Given the description of an element on the screen output the (x, y) to click on. 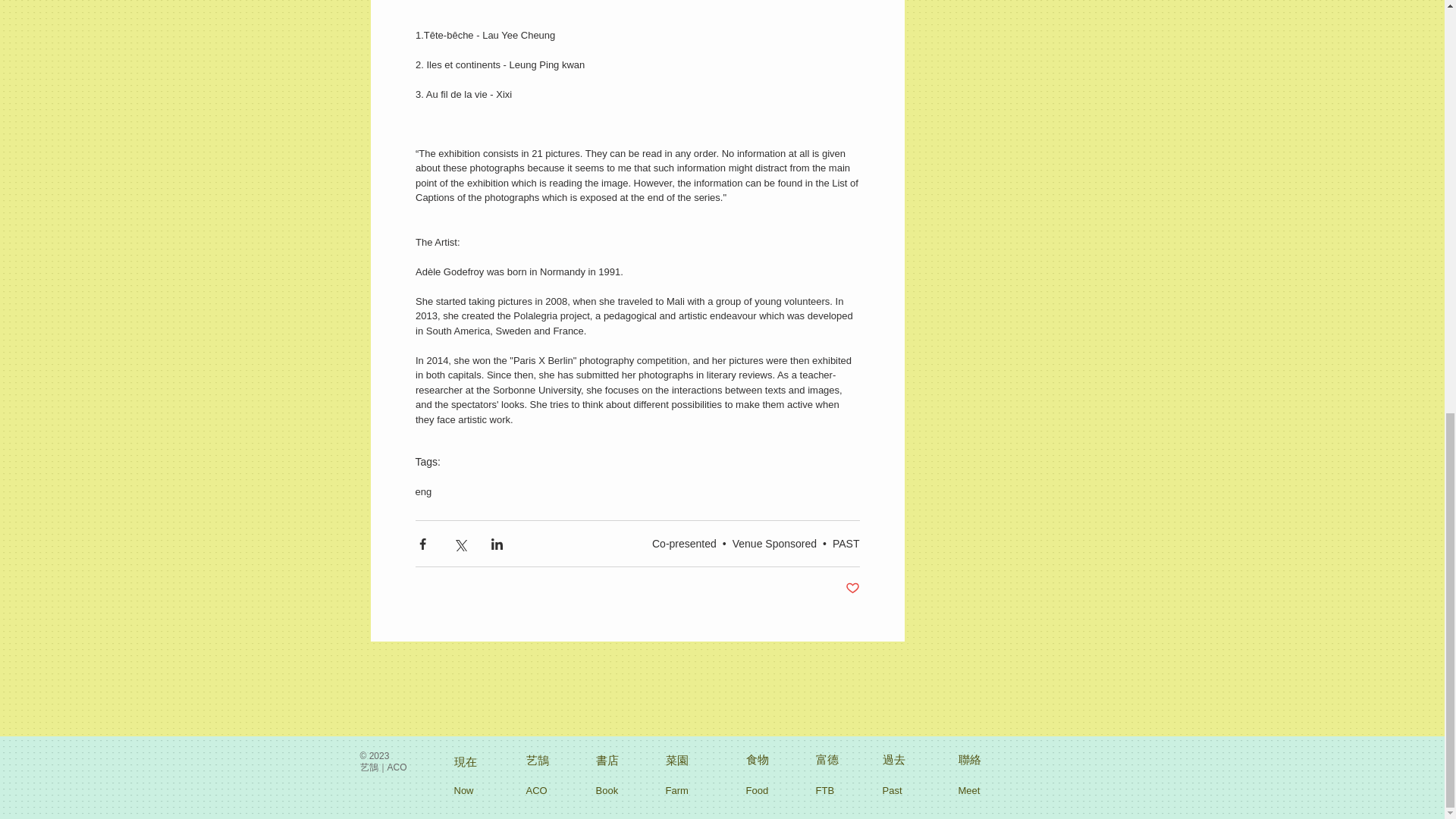
Past (897, 790)
ACO (538, 790)
Farm (680, 790)
PAST (846, 543)
Post not marked as liked (851, 588)
Book (610, 790)
Now (465, 790)
Venue Sponsored (774, 543)
Co-presented (684, 543)
Meet (973, 790)
